Given the description of an element on the screen output the (x, y) to click on. 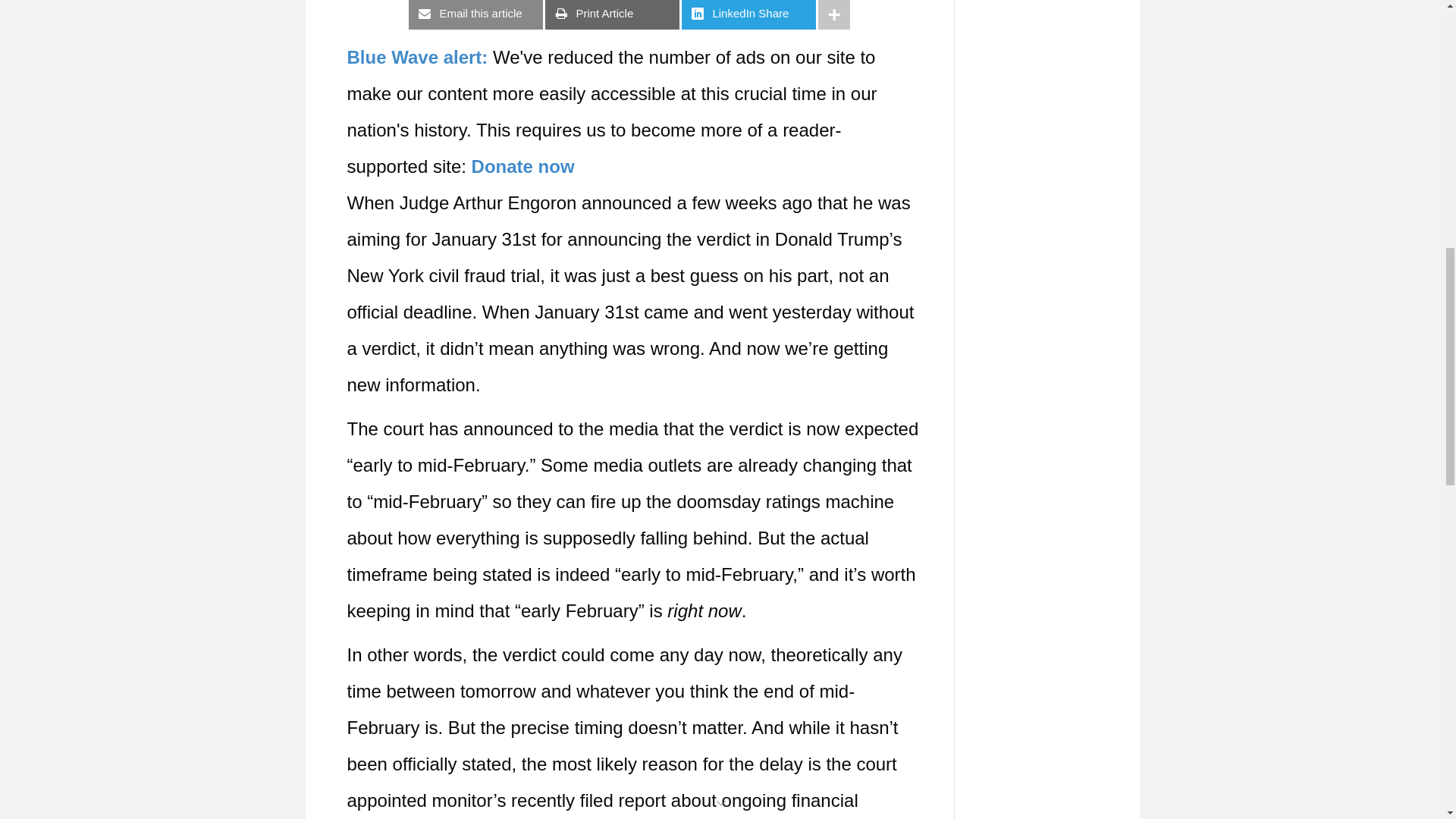
Donate now (523, 166)
Blue Wave alert: (417, 56)
LinkedIn Share (748, 14)
Print Article (611, 14)
Email this article (476, 14)
